Given the description of an element on the screen output the (x, y) to click on. 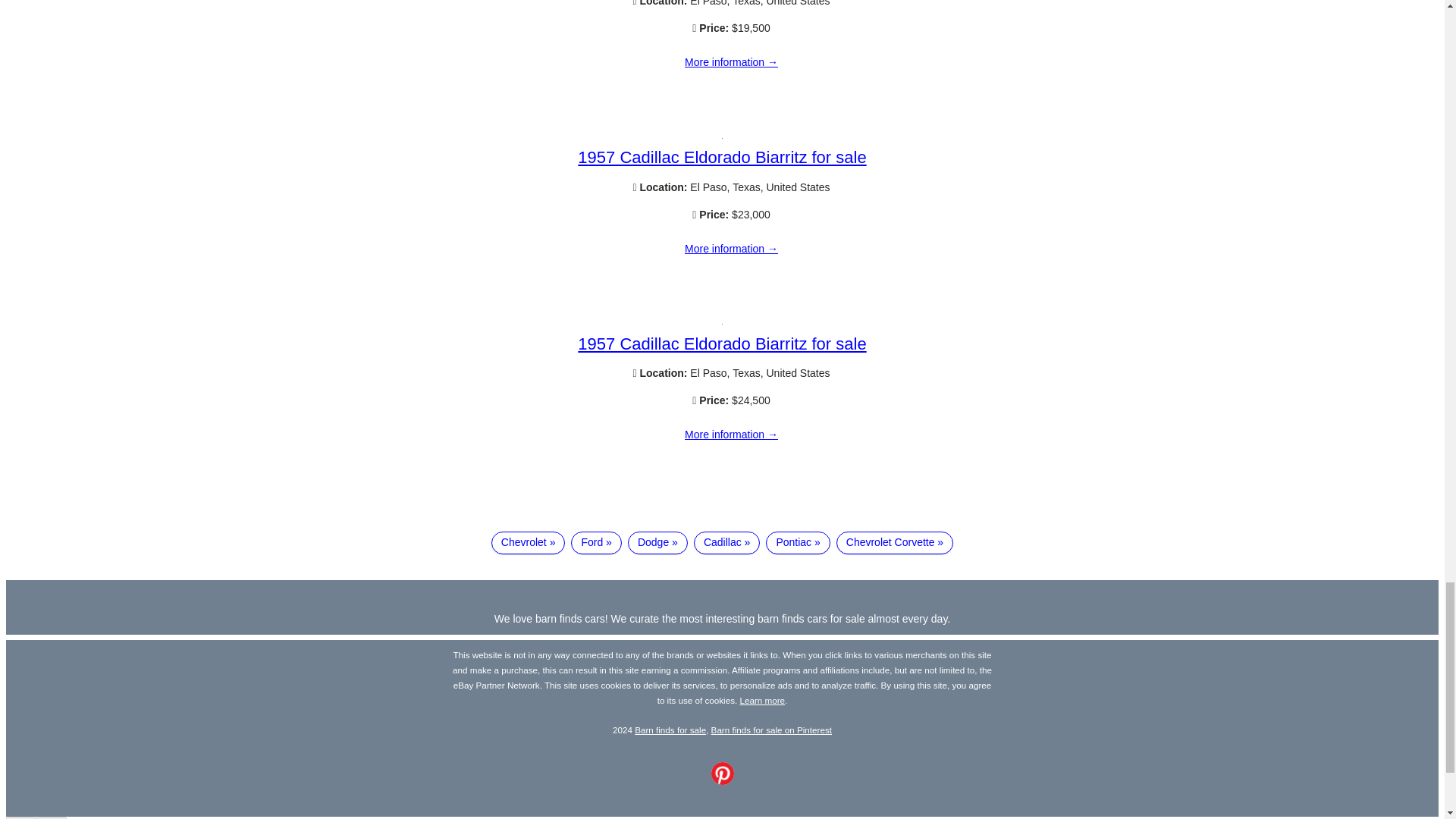
Learn more (762, 700)
Dodge (657, 542)
Cadillac (727, 542)
Follow Barn finds for sale on Pinterest (722, 780)
Chevrolet Corvette (894, 542)
Barn finds for sale (670, 729)
1957 Cadillac Eldorado Biarritz for sale (731, 434)
Pontiac (797, 542)
Ford (595, 542)
Chevrolet (529, 542)
